Given the description of an element on the screen output the (x, y) to click on. 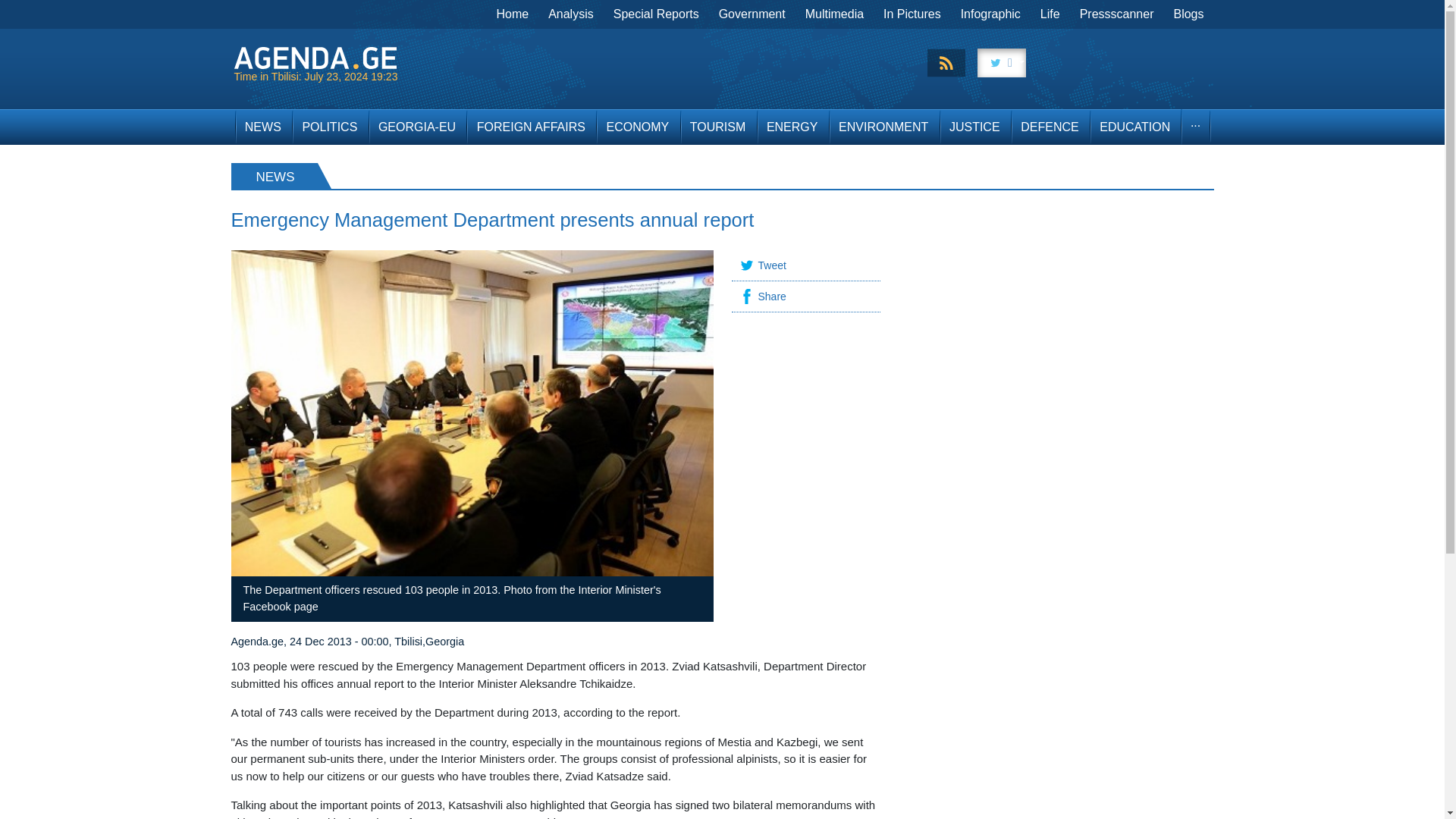
NEWS (262, 126)
Analysis (571, 14)
Blogs (1187, 14)
Home (512, 14)
Government (751, 14)
Multimedia (833, 14)
Pressscanner (1116, 14)
In Pictures (911, 14)
Special Reports (656, 14)
Infographic (990, 14)
Life (1050, 14)
